Given the description of an element on the screen output the (x, y) to click on. 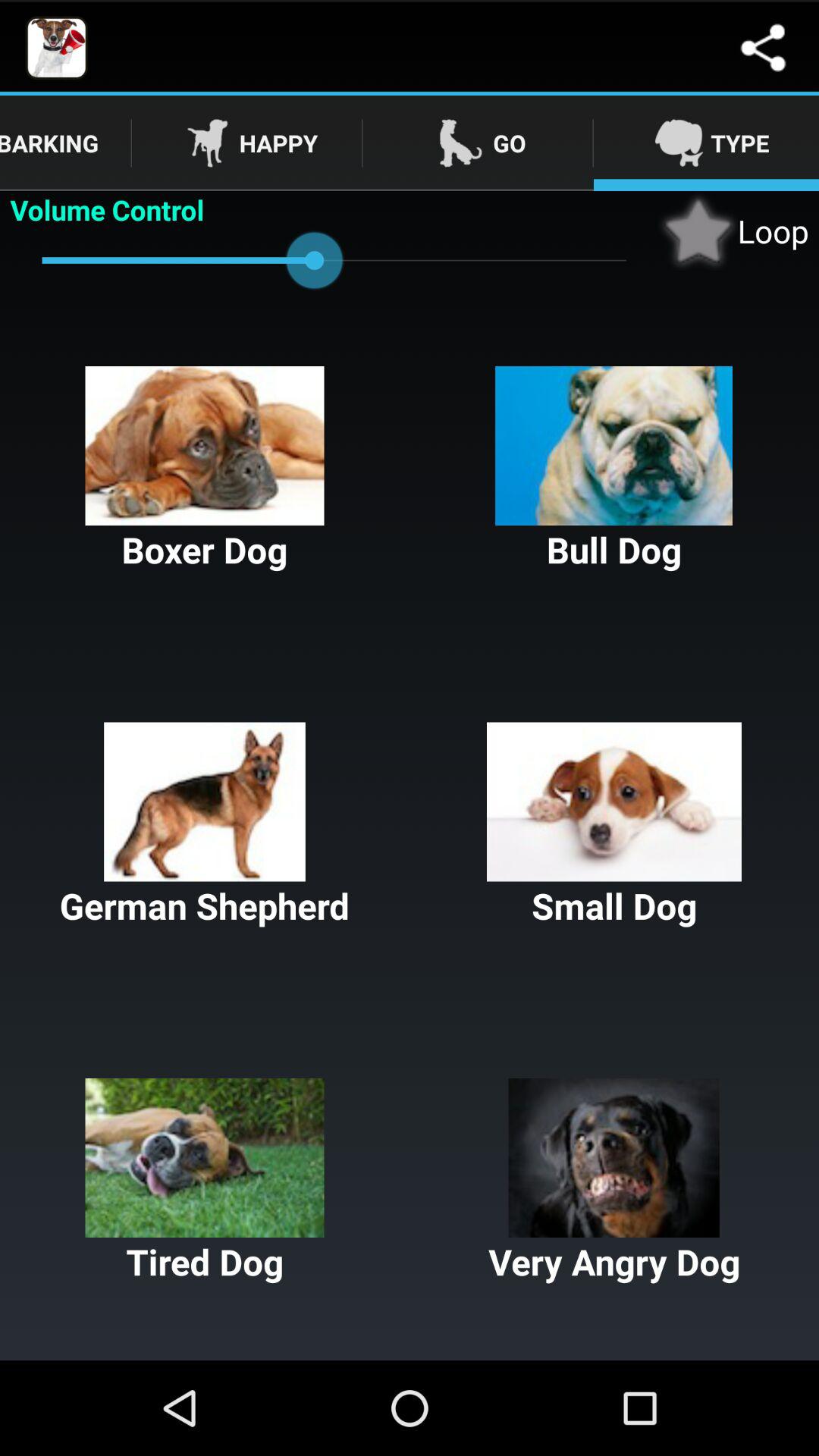
turn on button next to the boxer dog icon (614, 469)
